Given the description of an element on the screen output the (x, y) to click on. 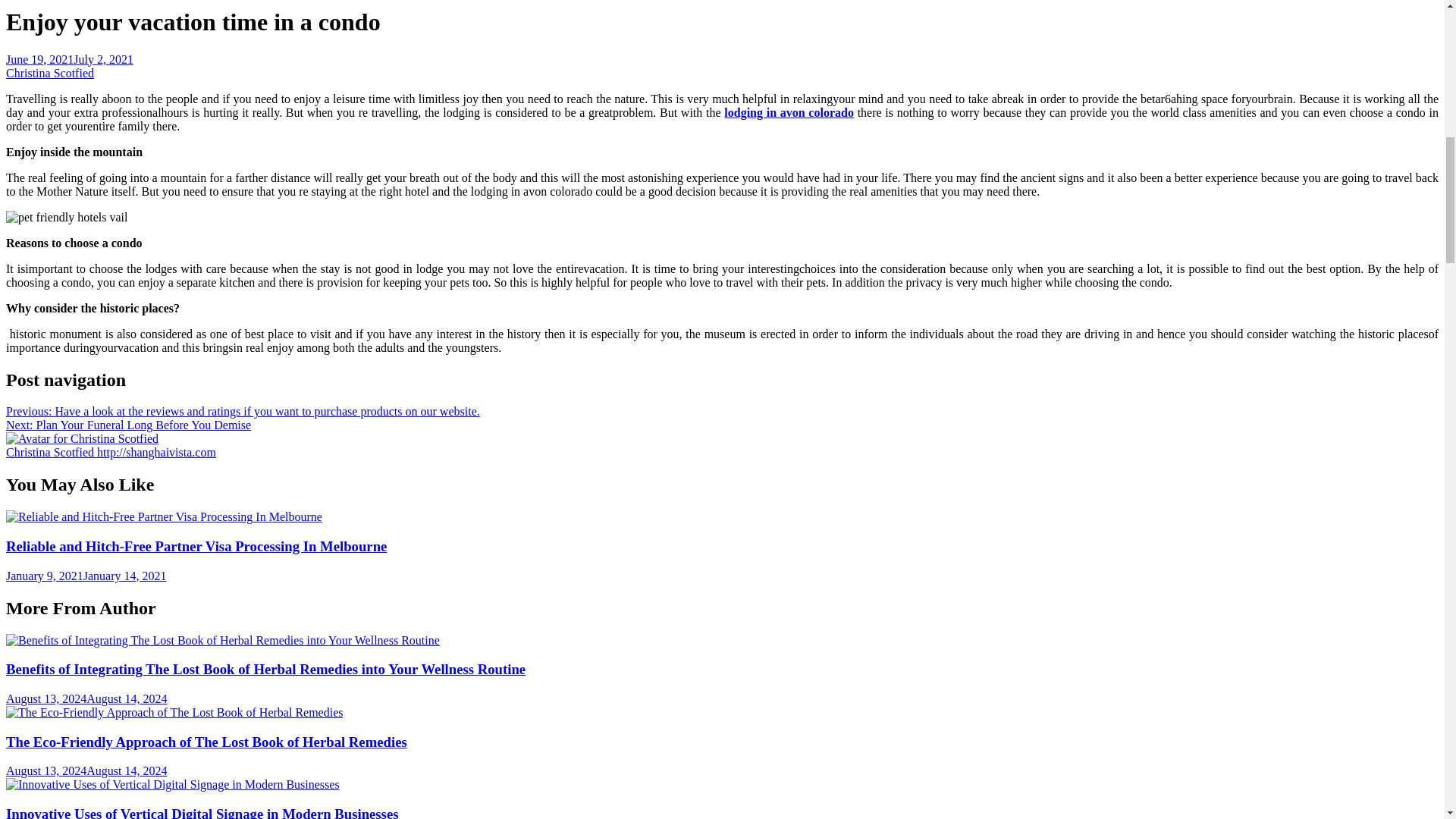
lodging in avon colorado (788, 112)
June 19, 2021July 2, 2021 (69, 59)
Christina Scotfied (51, 451)
Christina Scotfied (49, 72)
Christina Scotfied (81, 438)
